Given the description of an element on the screen output the (x, y) to click on. 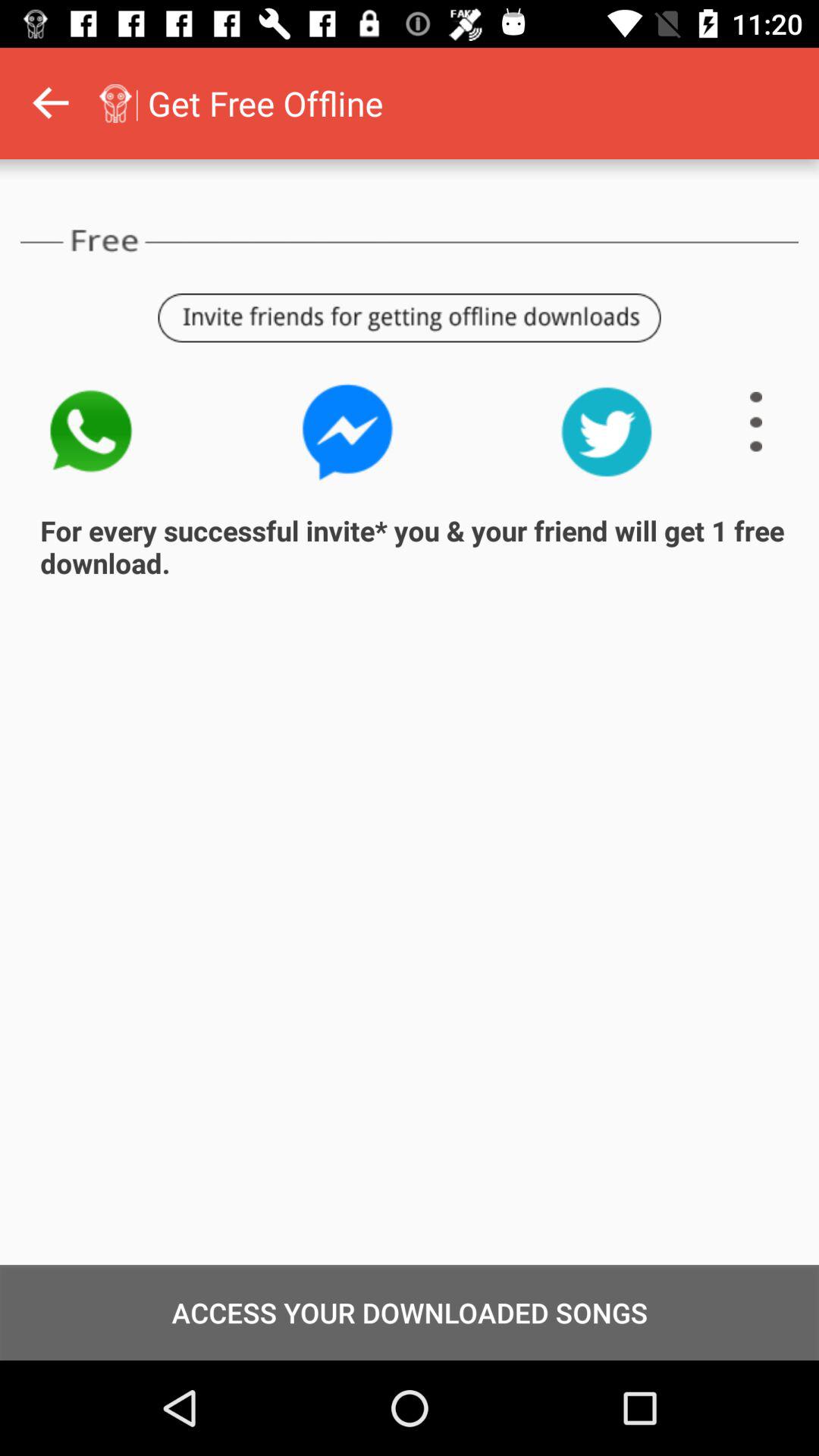
turn off the item above the for every successful item (756, 421)
